Given the description of an element on the screen output the (x, y) to click on. 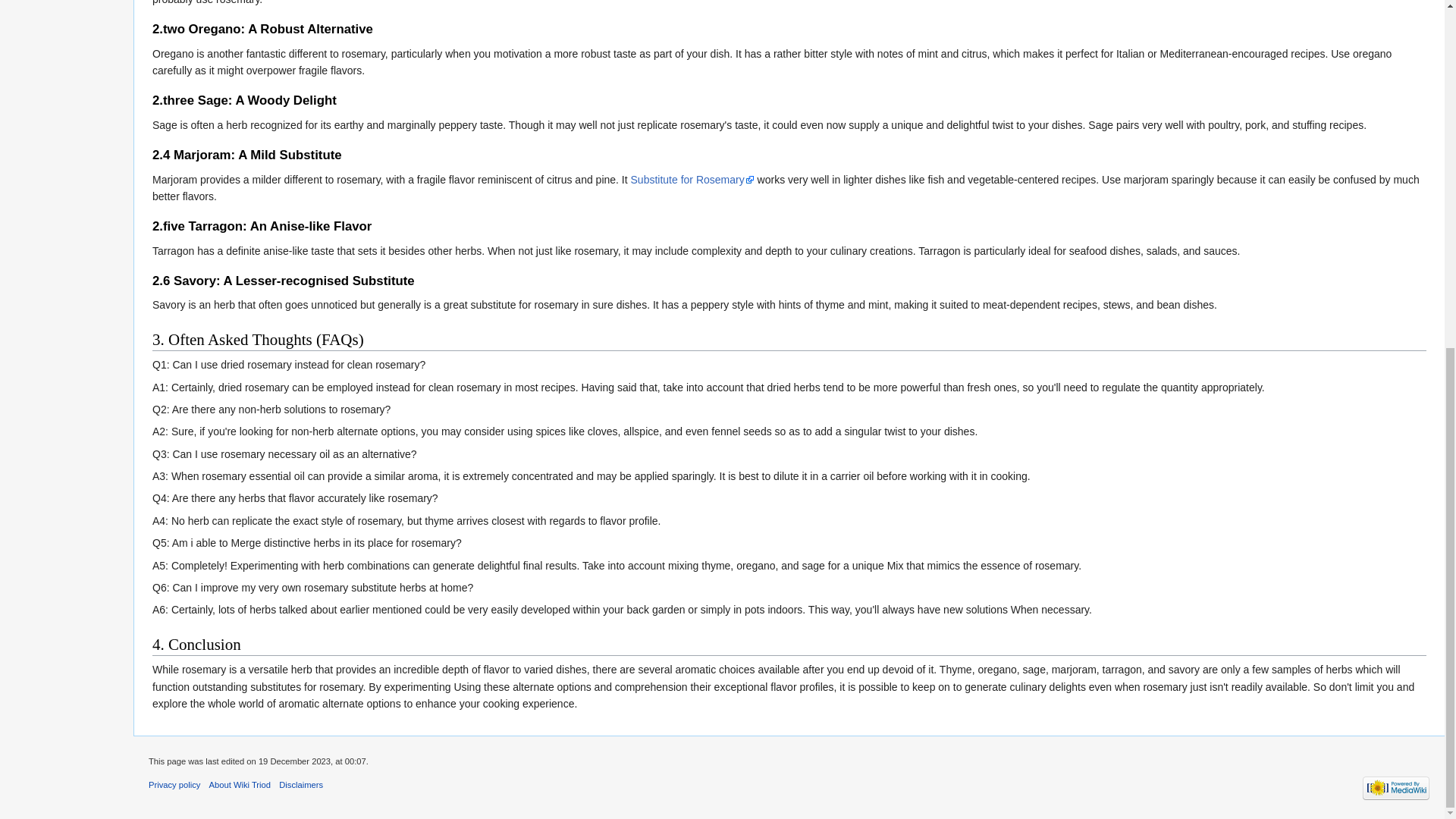
Substitute for Rosemary (692, 179)
Disclaimers (301, 784)
About Wiki Triod (239, 784)
Privacy policy (174, 784)
